Given the description of an element on the screen output the (x, y) to click on. 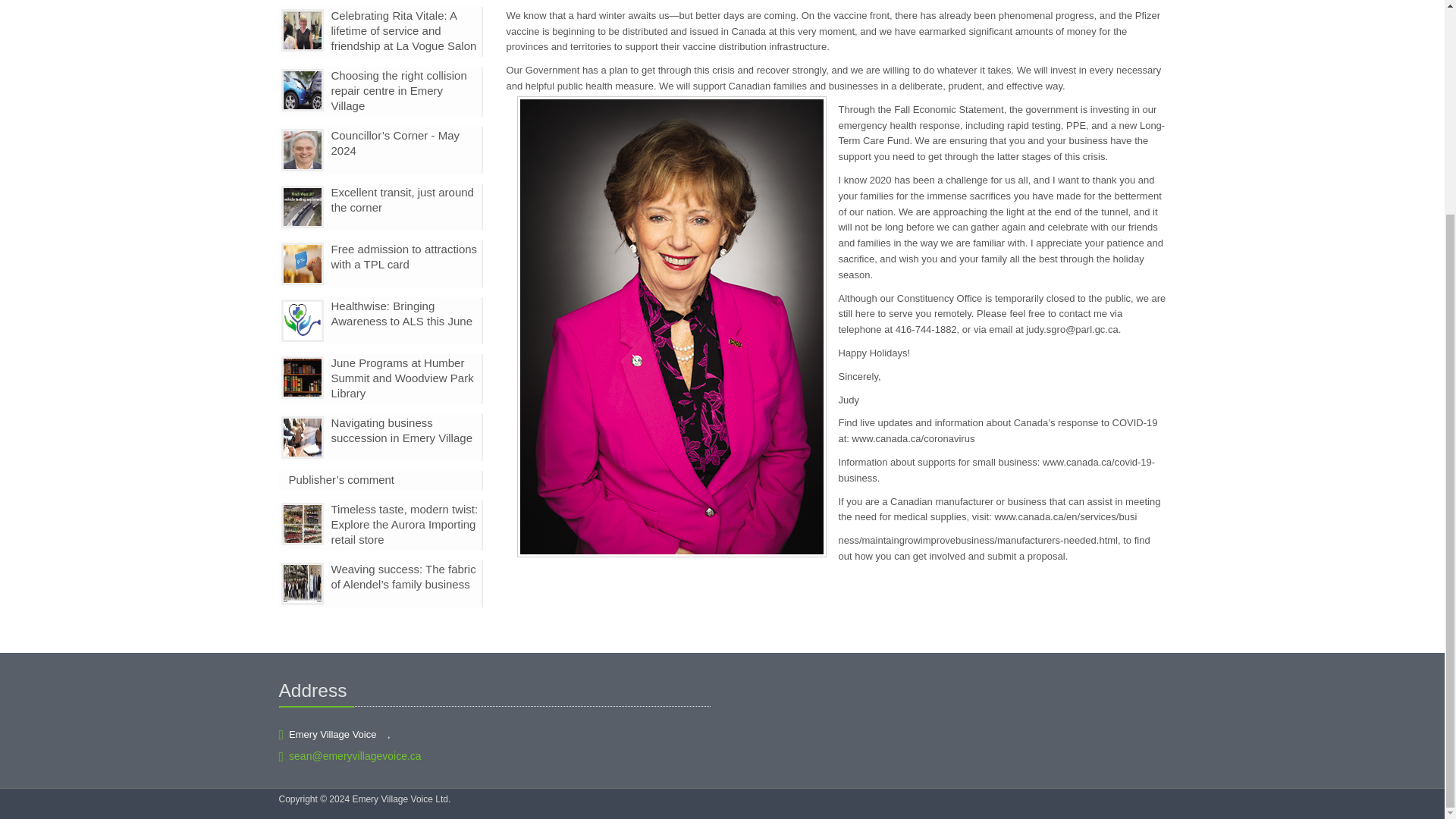
Free admission to attractions with a TPL card (403, 256)
June Programs at Humber Summit and Woodview Park Library (401, 377)
Excellent transit, just around the corner (401, 199)
Navigating business succession in Emery Village (400, 430)
Healthwise: Bringing Awareness to ALS this June (400, 313)
Choosing the right collision repair centre in Emery Village (397, 90)
